Given the description of an element on the screen output the (x, y) to click on. 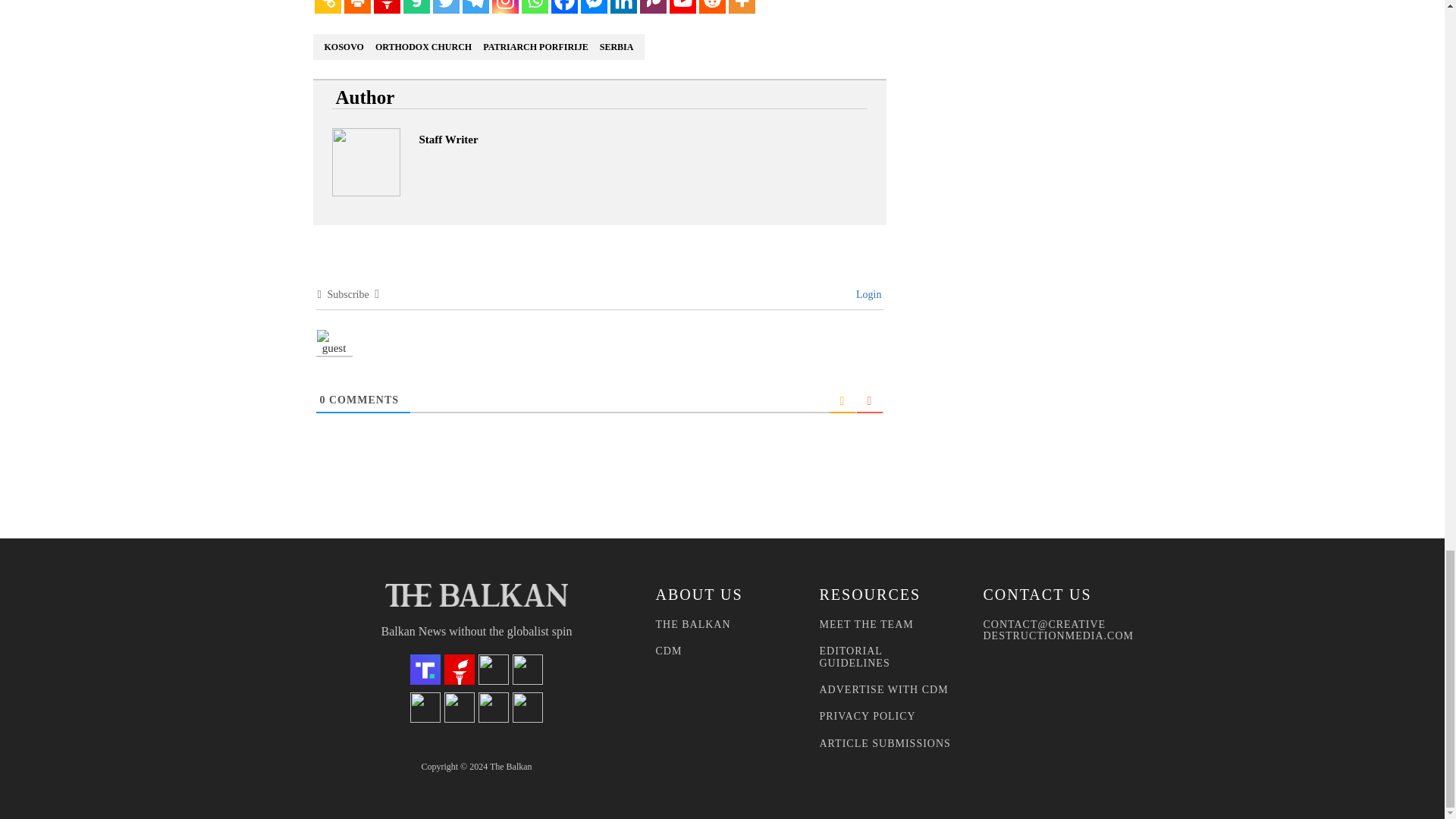
Parler (653, 6)
Whatsapp (534, 6)
Youtube (681, 6)
Facebook (563, 6)
Gettr (385, 6)
Gab (416, 6)
Copy Link (327, 6)
Instagram (505, 6)
Twitter (445, 6)
Reddit (711, 6)
